Given the description of an element on the screen output the (x, y) to click on. 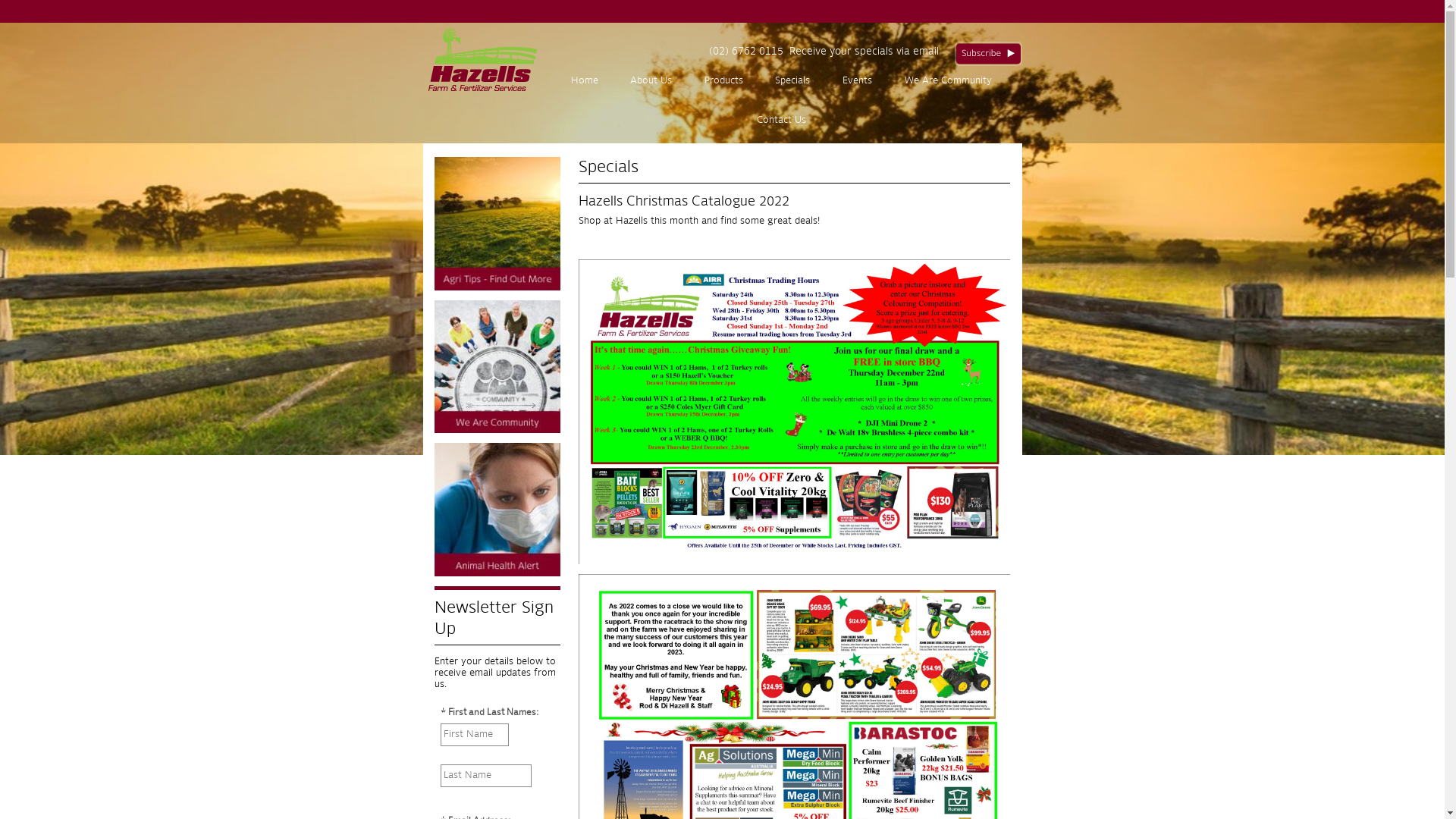
Home Element type: text (584, 80)
Contact Us Element type: text (780, 120)
Events Element type: text (857, 80)
Specials Element type: text (792, 80)
Products Element type: text (723, 80)
We Are Community Element type: text (947, 80)
About Us Element type: text (651, 80)
